Given the description of an element on the screen output the (x, y) to click on. 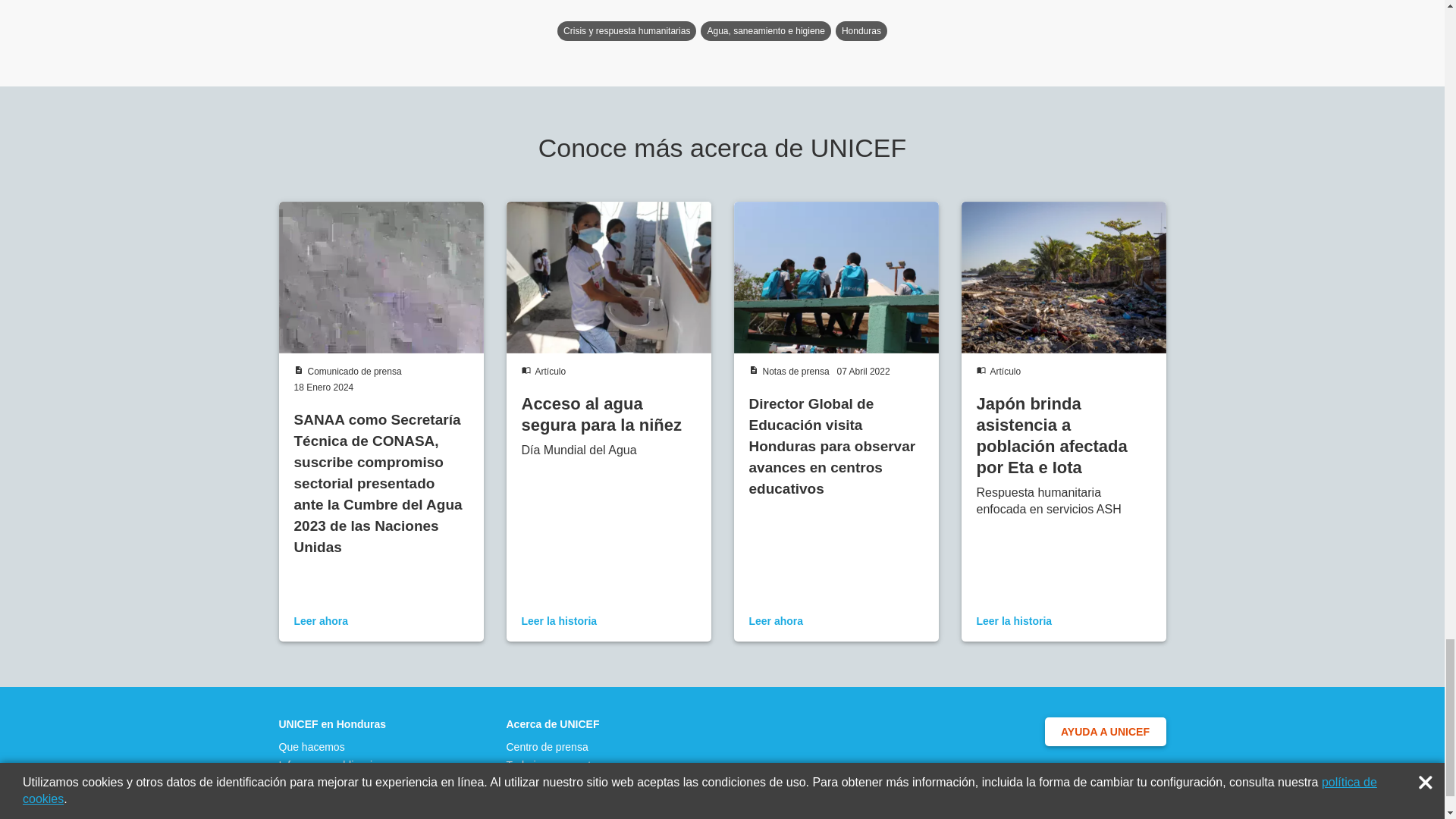
UNICEF en Honduras (337, 800)
Acerca de UNICEF (555, 800)
Que hacemos (337, 817)
Que hacemos (337, 817)
Honduras (860, 107)
Crisis y respuesta humanitarias (626, 107)
UNICEF en Honduras (337, 800)
AYUDA A UNICEF (1105, 806)
Agua, saneamiento e higiene (764, 107)
Centro de prensa (555, 817)
